Given the description of an element on the screen output the (x, y) to click on. 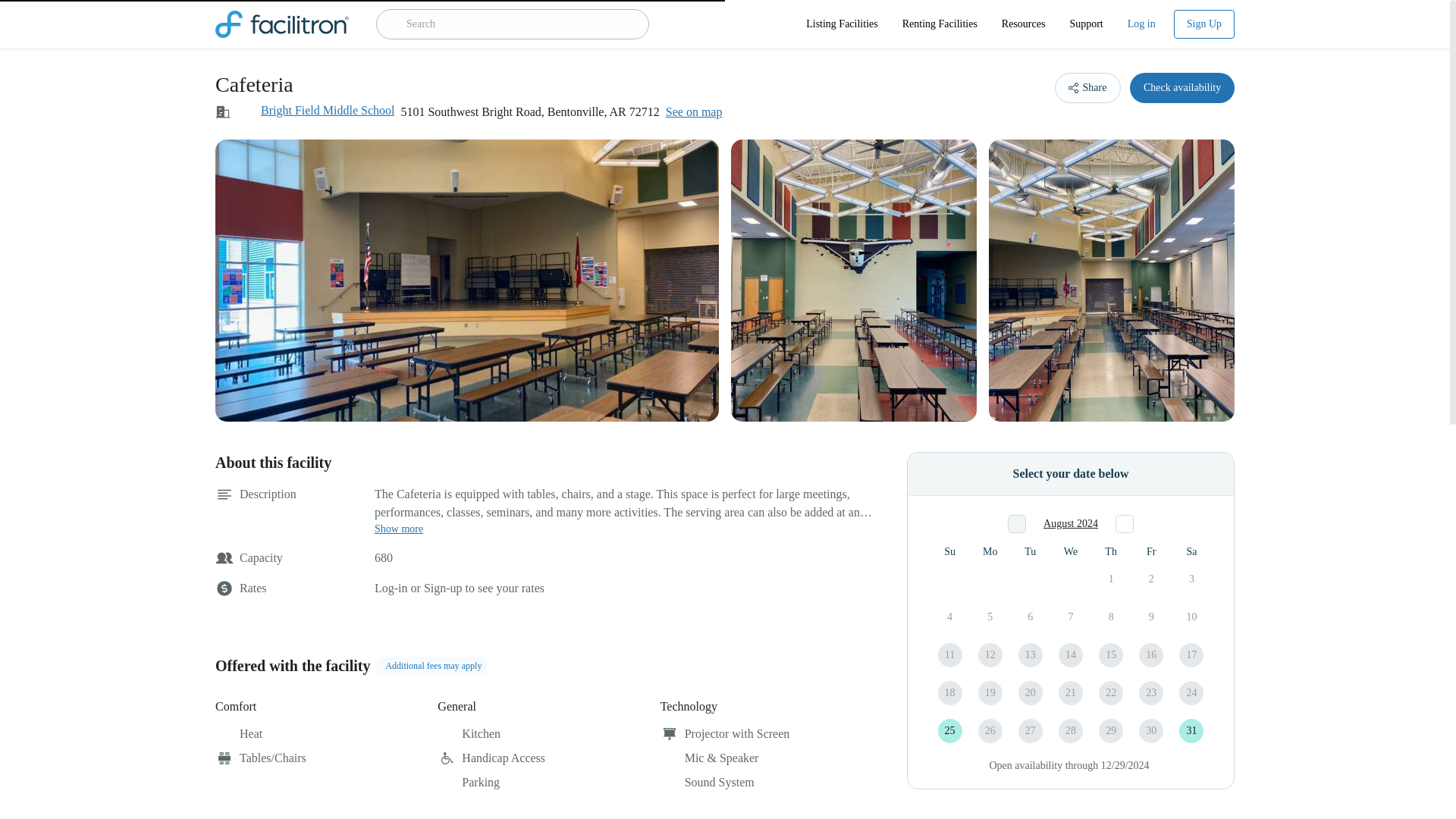
See on map (693, 111)
Log in (1141, 24)
Sign Up (1203, 23)
Bright Field Middle School (327, 110)
